Given the description of an element on the screen output the (x, y) to click on. 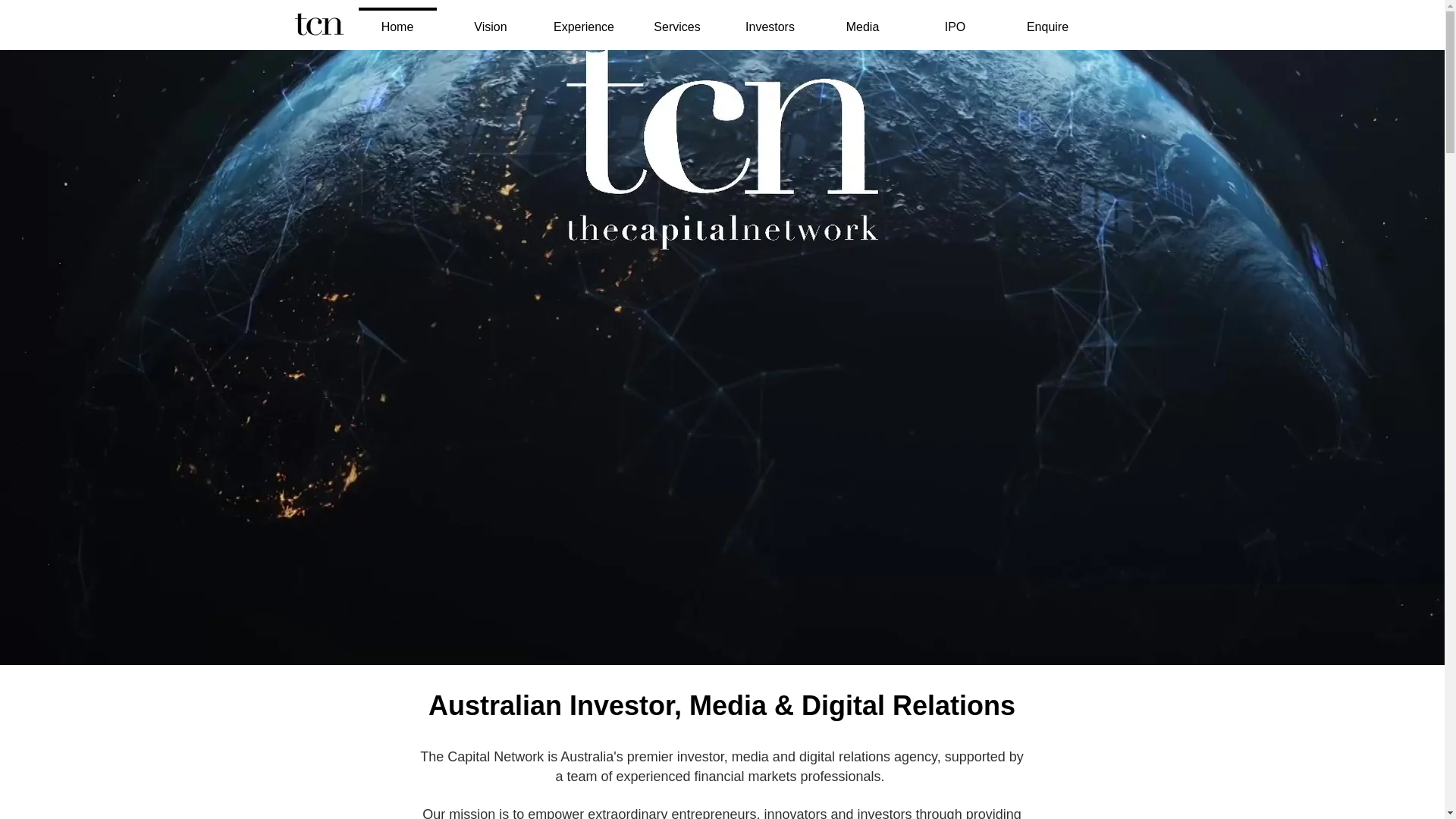
Home (397, 20)
IPO (954, 20)
Media (861, 20)
Services (676, 20)
Enquire (1047, 20)
Experience (583, 20)
Vision (490, 20)
Investors (769, 20)
